Given the description of an element on the screen output the (x, y) to click on. 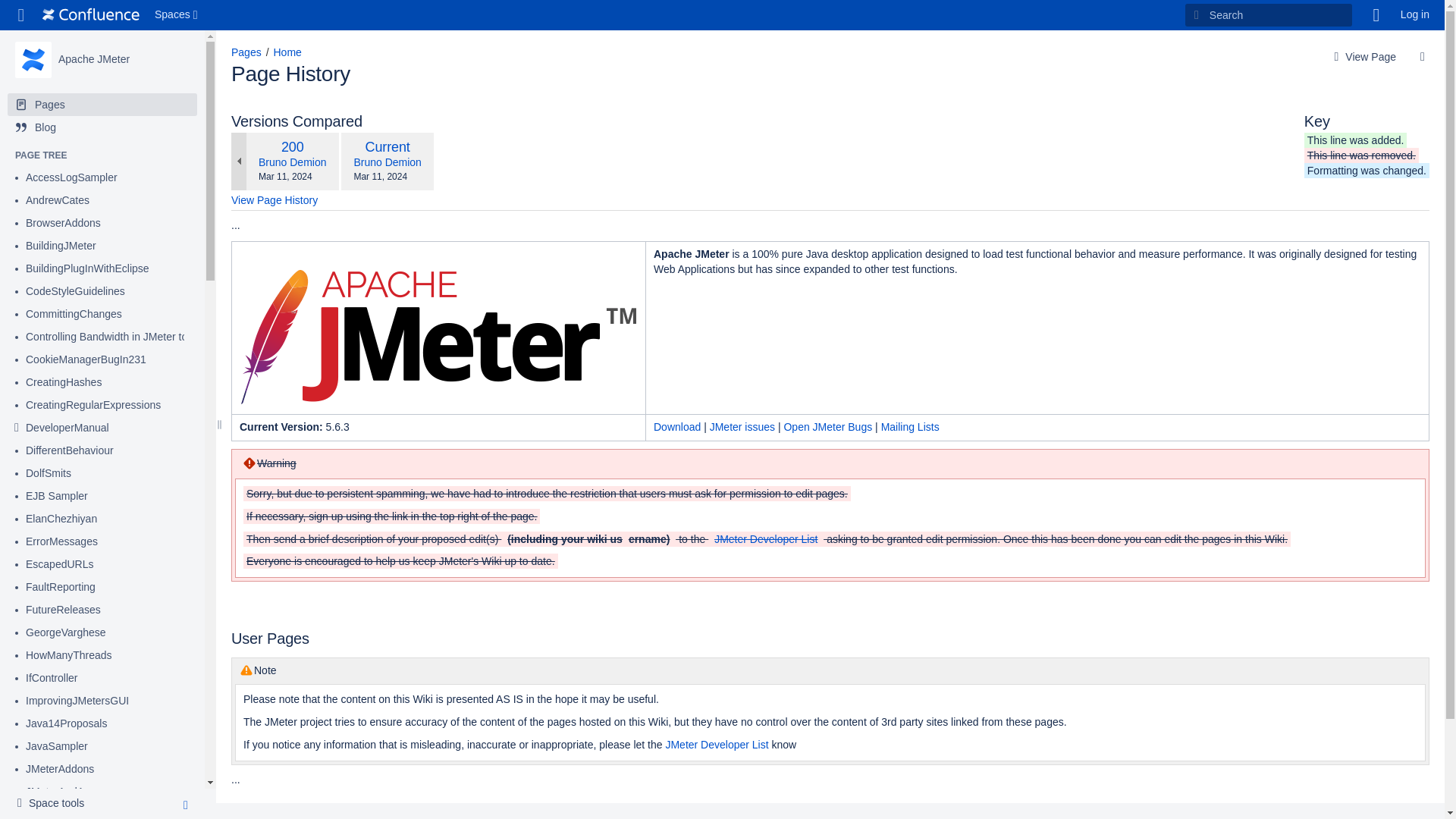
Spaces (177, 15)
Apache JMeter (32, 59)
Help (1376, 15)
CreatingRegularExpressions (93, 405)
Apache Software Foundation (90, 15)
Apache JMeter (93, 59)
FaultReporting (61, 587)
BrowserAddons (63, 223)
EscapedURLs (60, 564)
DeveloperManual (67, 427)
BuildingJMeter (61, 246)
Spaces (177, 15)
BuildingPlugInWithEclipse (87, 268)
ErrorMessages (61, 541)
